Given the description of an element on the screen output the (x, y) to click on. 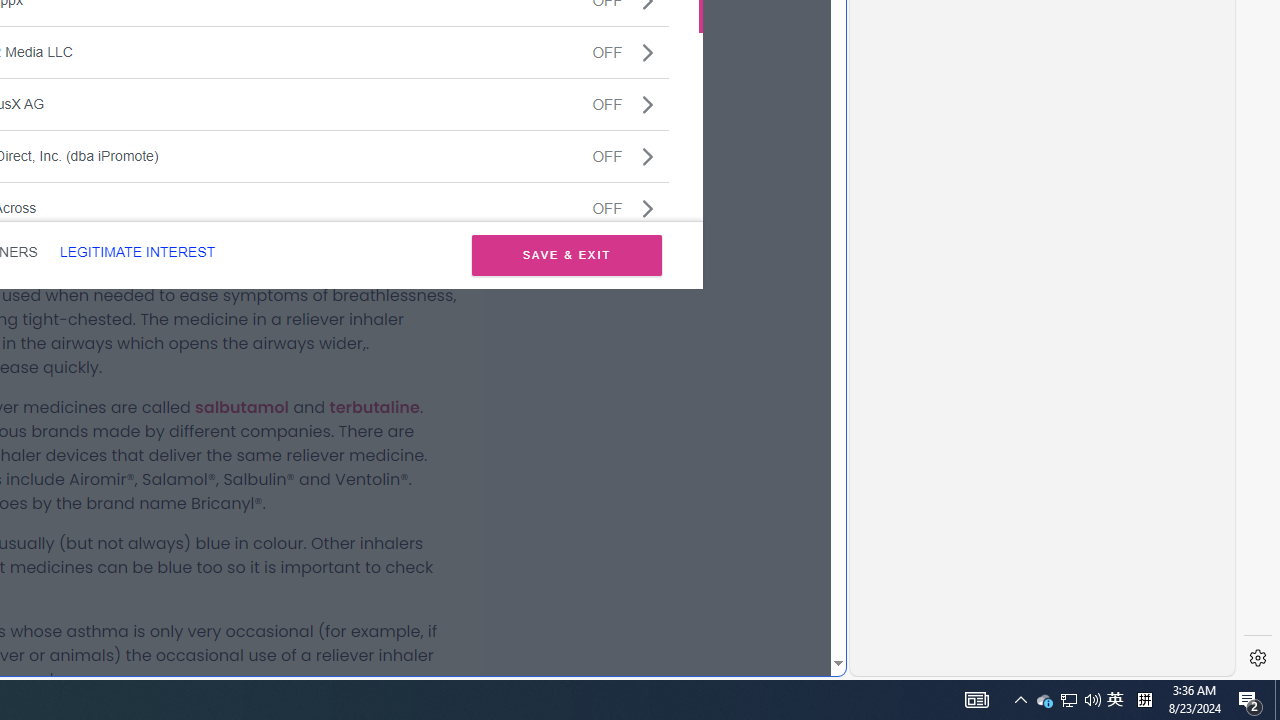
Class: css-jswnc6 (648, 208)
salbutamol (241, 407)
SAVE & EXIT (566, 254)
LEGITIMATE INTEREST (137, 251)
terbutaline (373, 407)
